Given the description of an element on the screen output the (x, y) to click on. 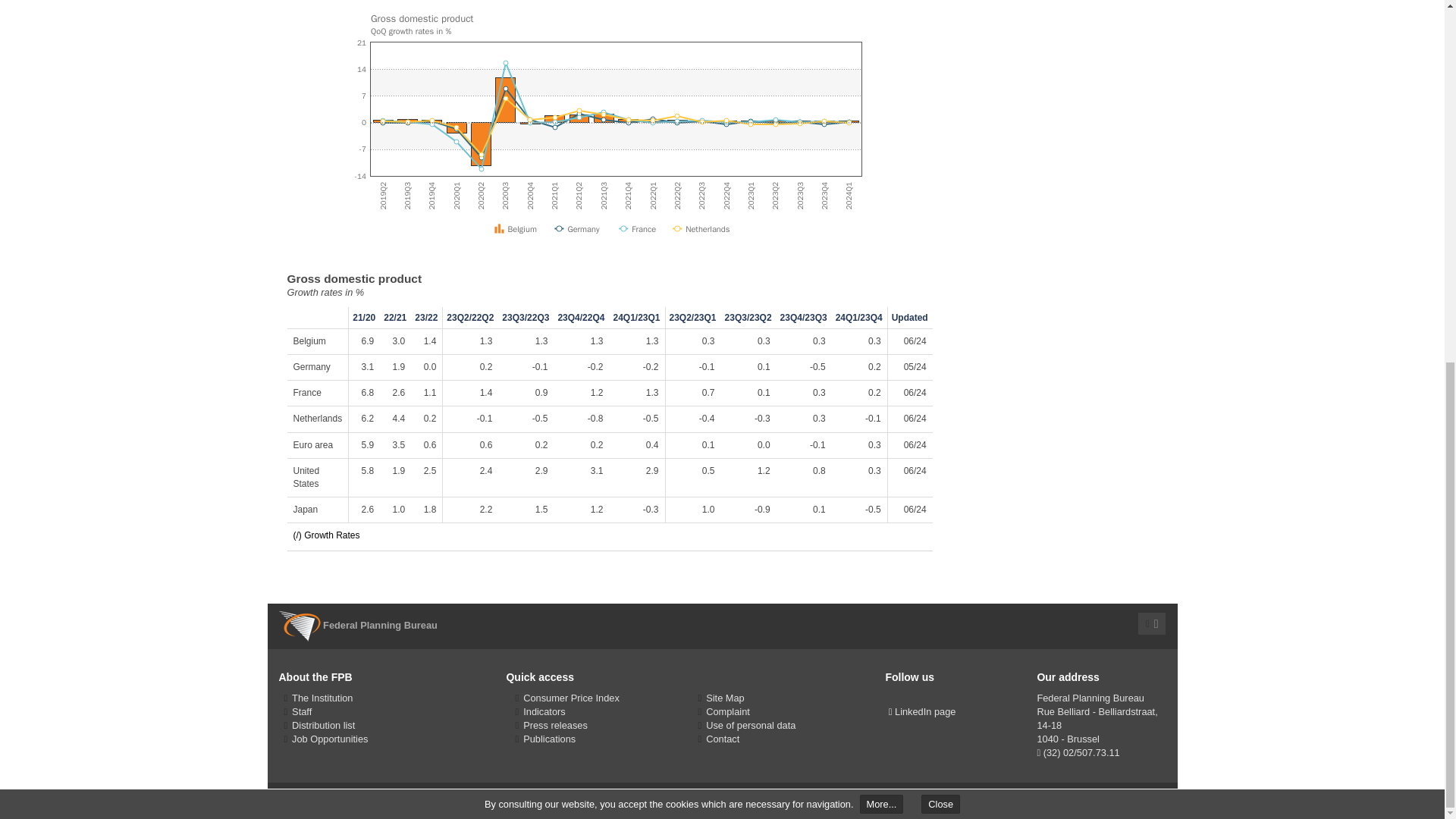
Visit our Linkedin page (922, 711)
Top of page (1152, 623)
